Given the description of an element on the screen output the (x, y) to click on. 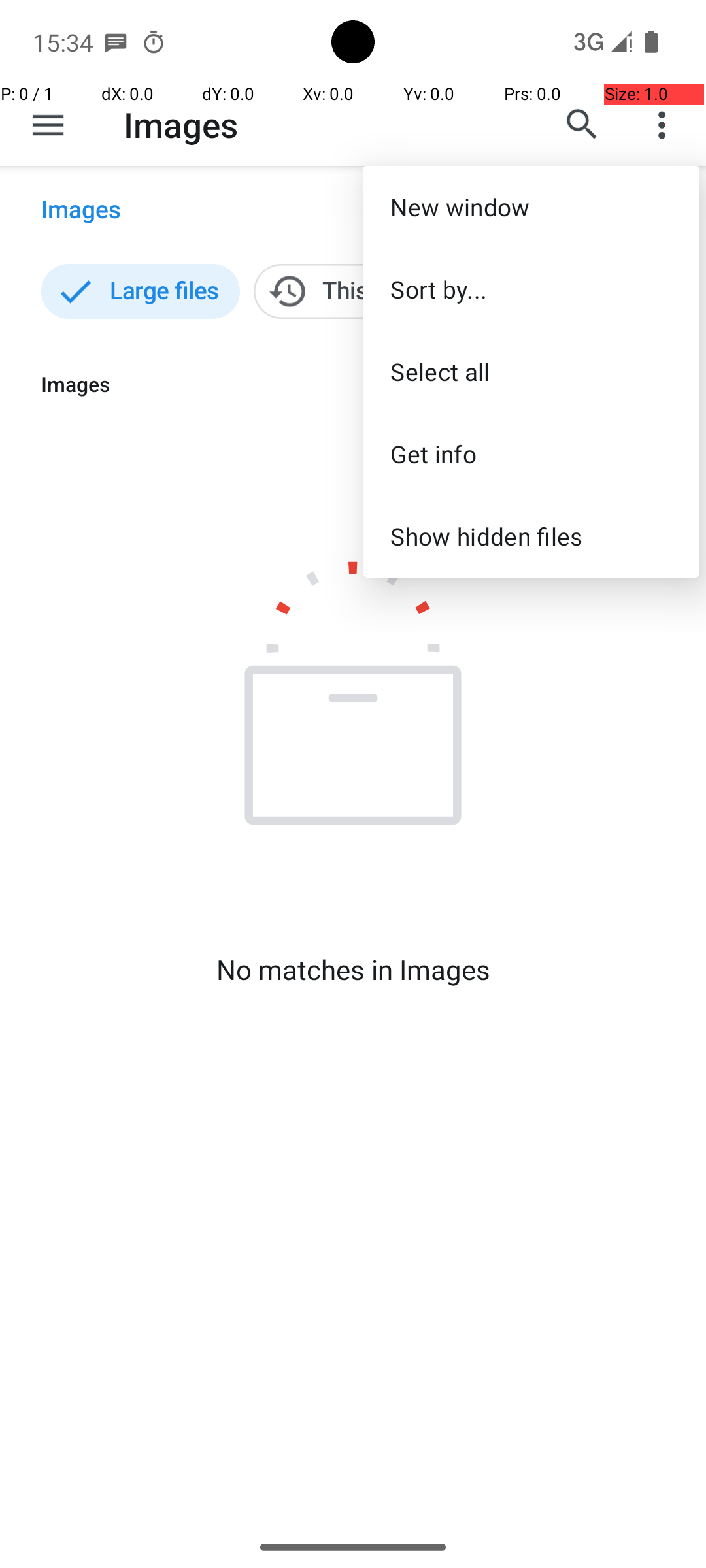
New window Element type: android.widget.TextView (531, 206)
Get info Element type: android.widget.TextView (531, 453)
